Given the description of an element on the screen output the (x, y) to click on. 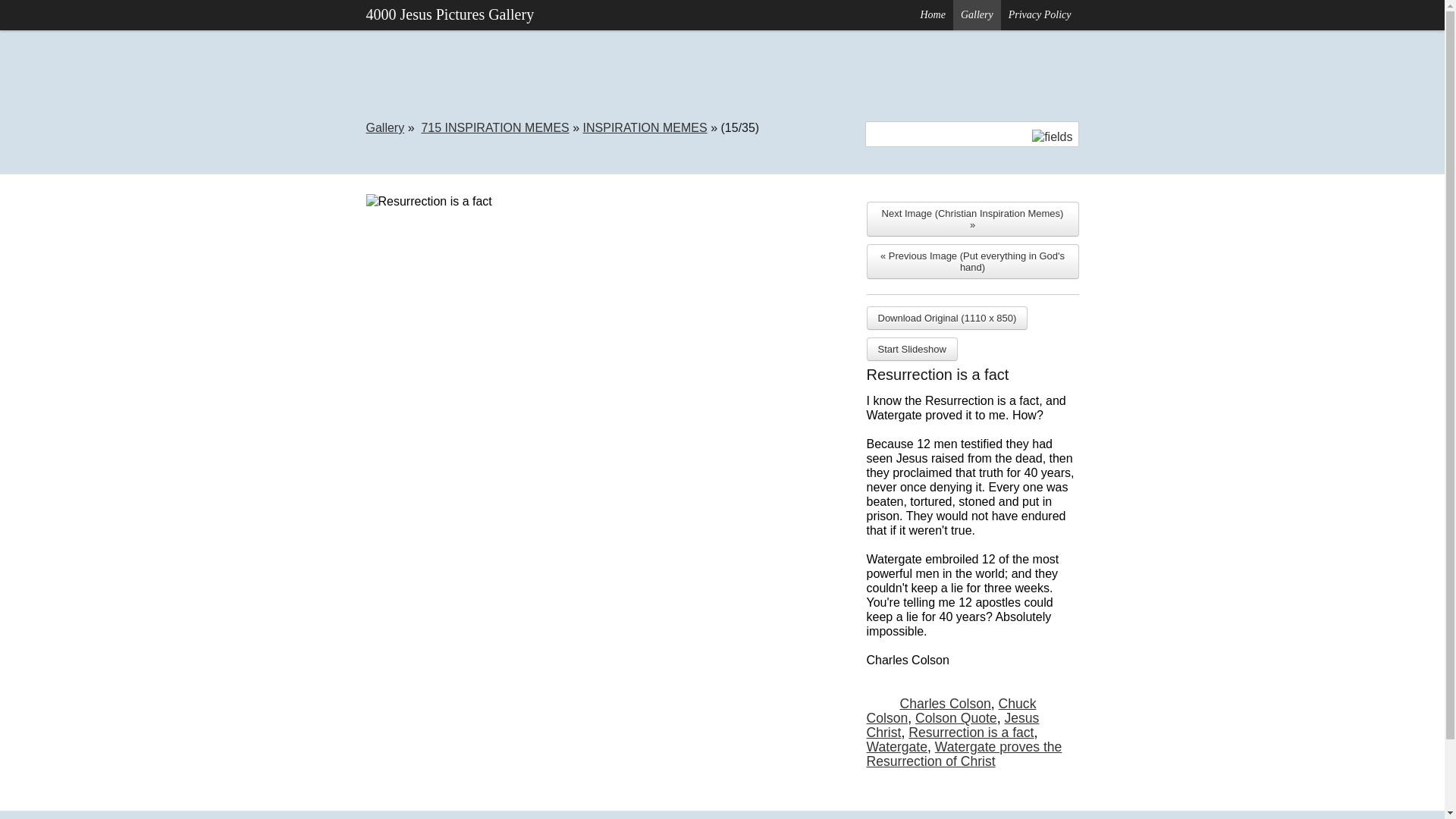
Privacy Policy (1039, 15)
Gallery (384, 127)
INSPIRATION MEMES (645, 127)
Search (26, 11)
715 INSPIRATION MEMES (494, 127)
4000 Jesus Pictures Gallery (449, 15)
Privacy Policy (1039, 15)
Start Slideshow (911, 349)
Next Image (972, 218)
Home (932, 15)
search options (1051, 136)
Gallery (977, 15)
Download Original (946, 318)
Gallery (977, 15)
Previous Image (972, 261)
